Given the description of an element on the screen output the (x, y) to click on. 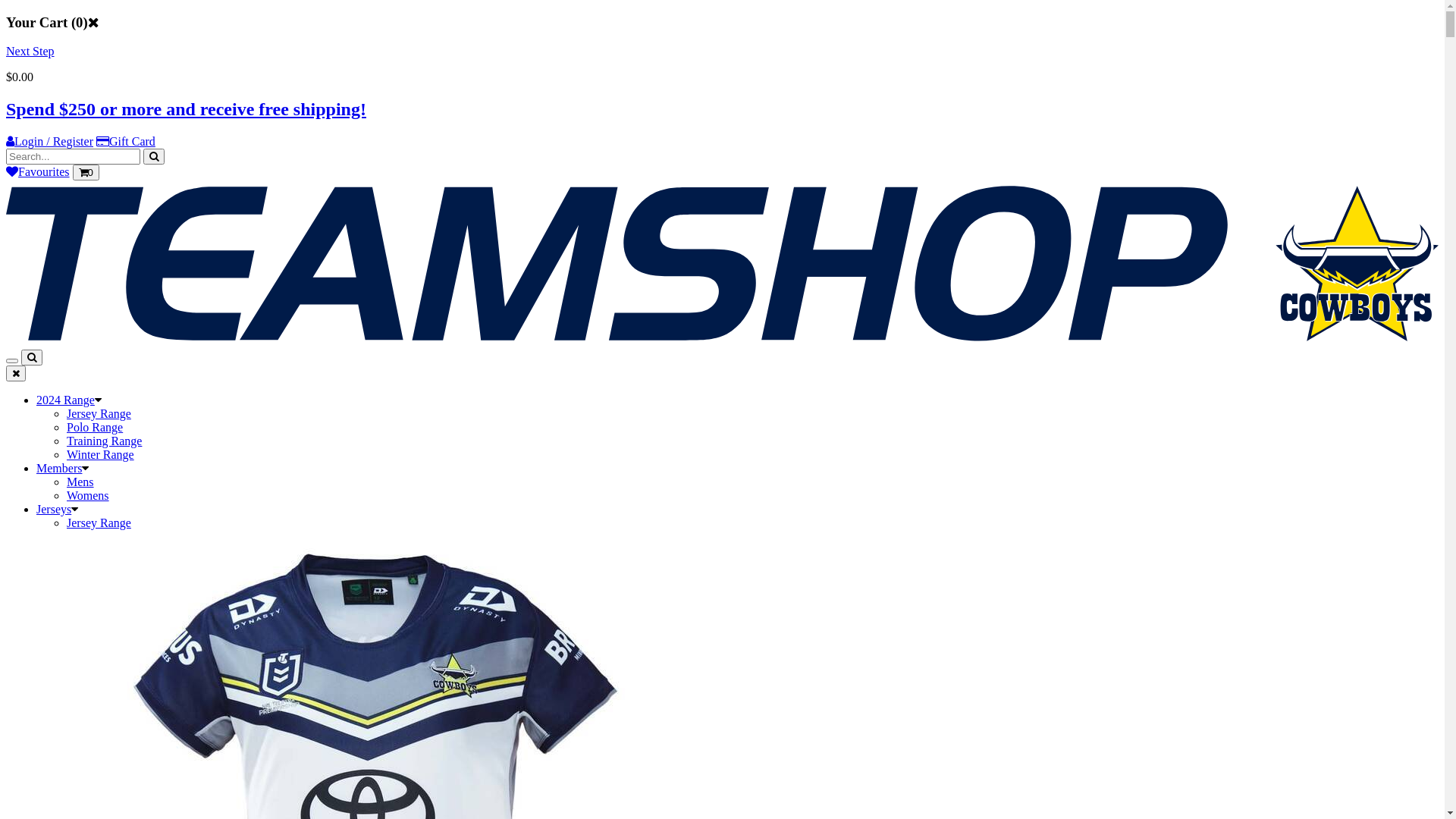
Login / Register Element type: text (49, 140)
Next Step Element type: text (30, 50)
Mens Element type: text (80, 481)
Training Range Element type: text (103, 440)
Womens Element type: text (87, 495)
Spend $250 or more and receive free shipping! Element type: text (186, 109)
Close Navigation Element type: text (15, 373)
Search Element type: text (31, 357)
Gift Card Element type: text (125, 140)
Members Element type: text (58, 467)
Winter Range Element type: text (100, 454)
2024 Range Element type: text (65, 399)
Favourites Element type: text (37, 171)
Search Element type: text (153, 156)
Jerseys Element type: text (53, 508)
Polo Range Element type: text (94, 426)
0 Element type: text (85, 172)
Jersey Range Element type: text (98, 522)
Jersey Range Element type: text (98, 413)
